Given the description of an element on the screen output the (x, y) to click on. 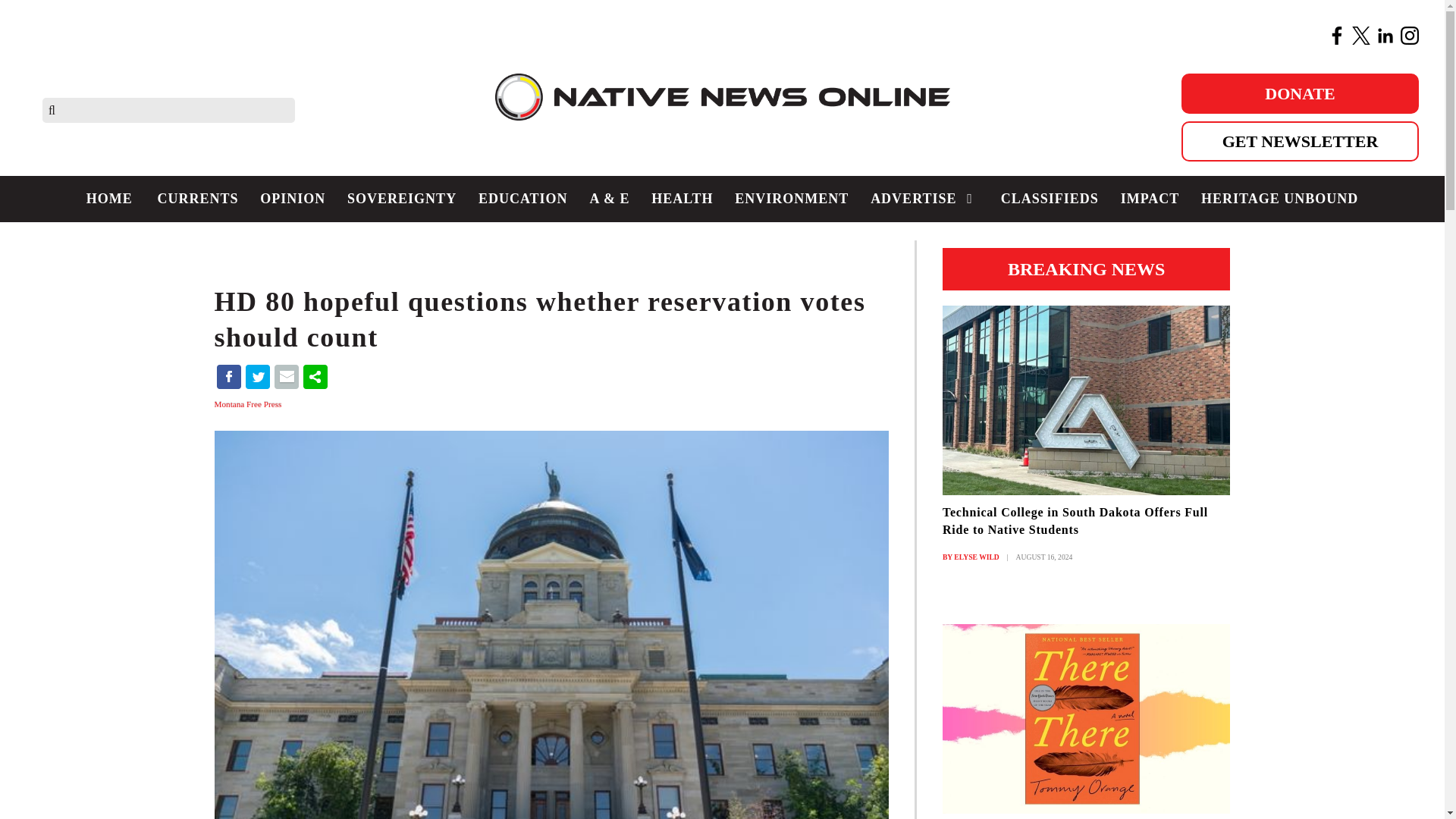
DONATE (1299, 93)
EDUCATION (522, 198)
HERITAGE UNBOUND (1280, 198)
ADVERTISE (924, 198)
OPINION (292, 198)
Native News Online (722, 109)
Montana Free Press (248, 404)
SOVEREIGNTY (401, 198)
HOME (109, 198)
IMPACT (1149, 198)
